Given the description of an element on the screen output the (x, y) to click on. 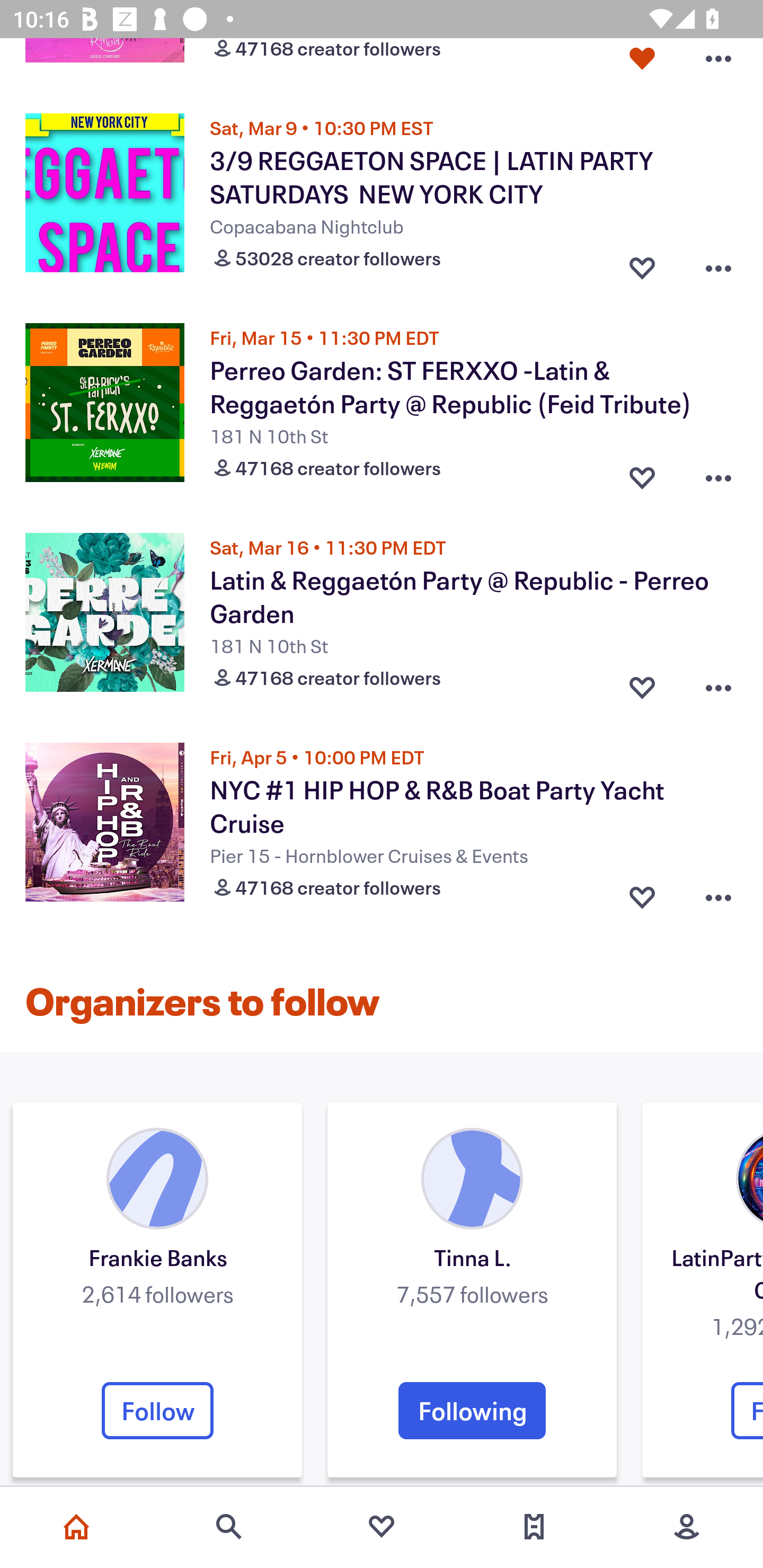
Favorite button (642, 62)
Overflow menu button (718, 62)
Favorite button (642, 263)
Overflow menu button (718, 263)
Favorite button (642, 474)
Overflow menu button (718, 474)
Favorite button (642, 683)
Overflow menu button (718, 683)
Favorite button (642, 892)
Overflow menu button (718, 892)
Follow Organizer's follow button (157, 1410)
Following Organizer's follow button (471, 1410)
Home (76, 1526)
Search events (228, 1526)
Favorites (381, 1526)
Tickets (533, 1526)
More (686, 1526)
